Given the description of an element on the screen output the (x, y) to click on. 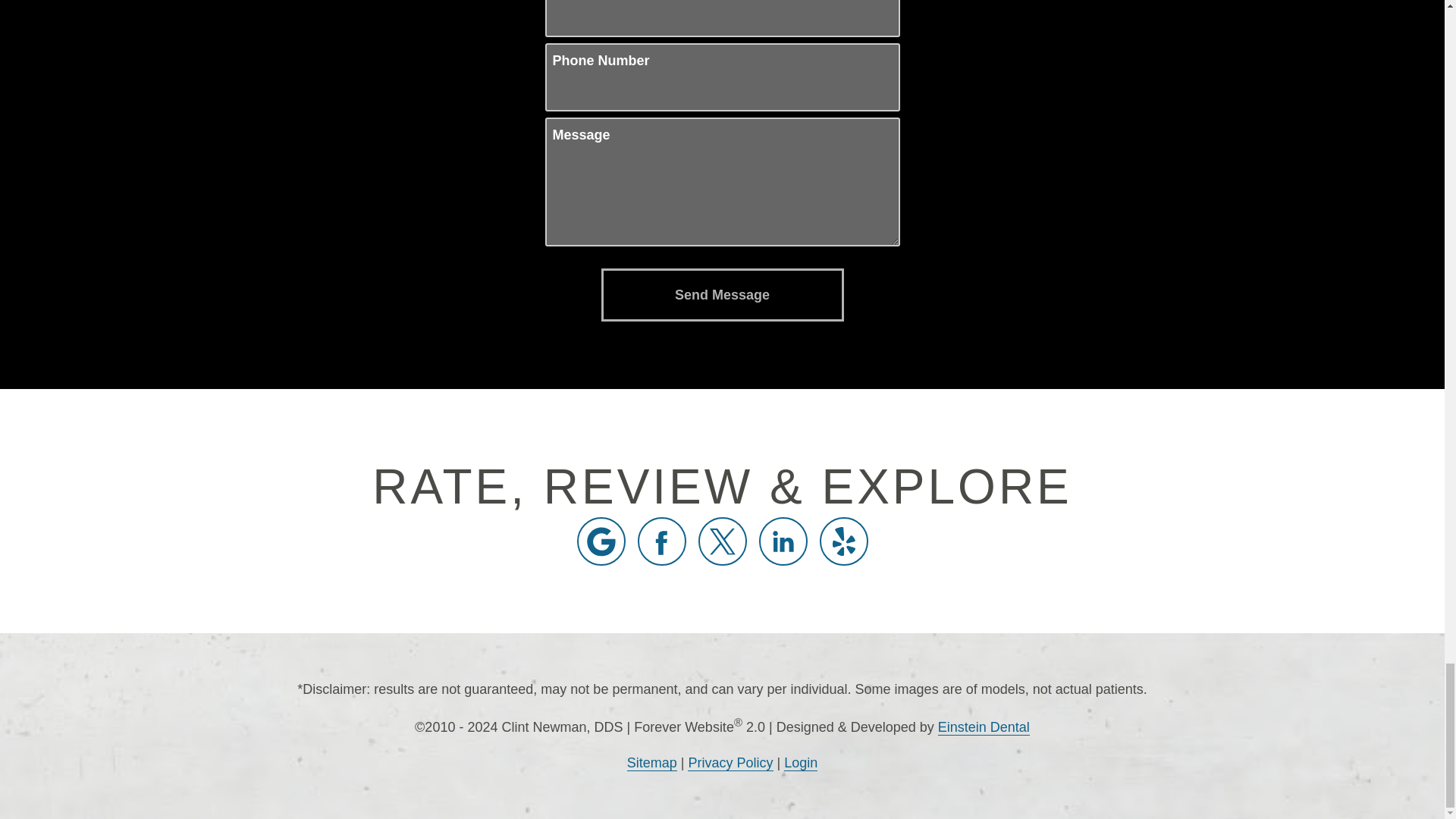
Einstein Dental (983, 727)
Facebook (661, 540)
LinkedIn (782, 540)
Send Message (721, 294)
Yelp (842, 540)
Twitter (721, 540)
Google (600, 540)
